Given the description of an element on the screen output the (x, y) to click on. 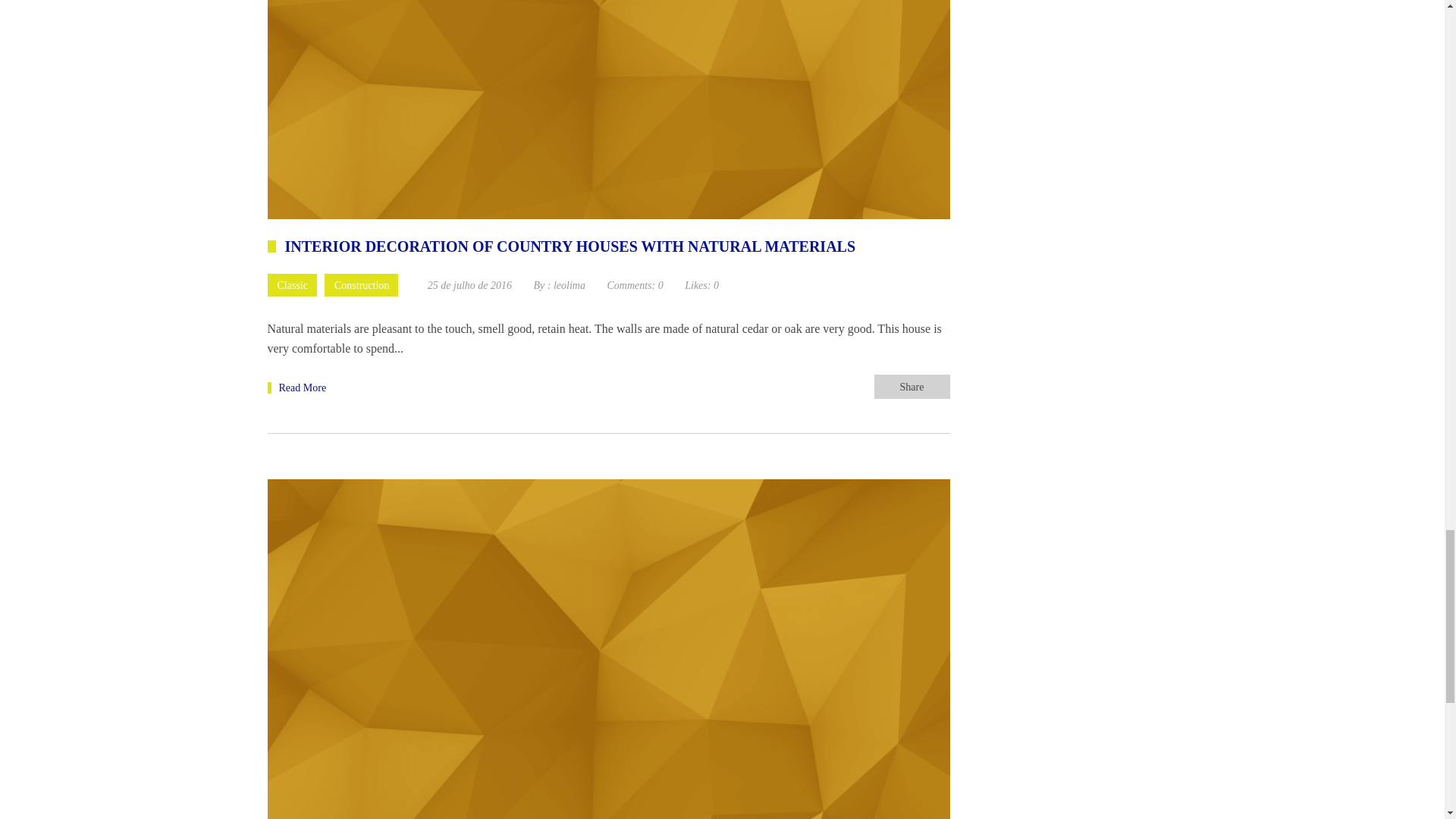
INTERIOR DECORATION OF COUNTRY HOUSES WITH NATURAL MATERIALS (561, 246)
Interior decoration of country houses with natural materials (296, 386)
Construction (360, 284)
View all posts in Classic (290, 284)
Read More (296, 386)
Classic (290, 284)
View all posts in Construction (360, 284)
